Given the description of an element on the screen output the (x, y) to click on. 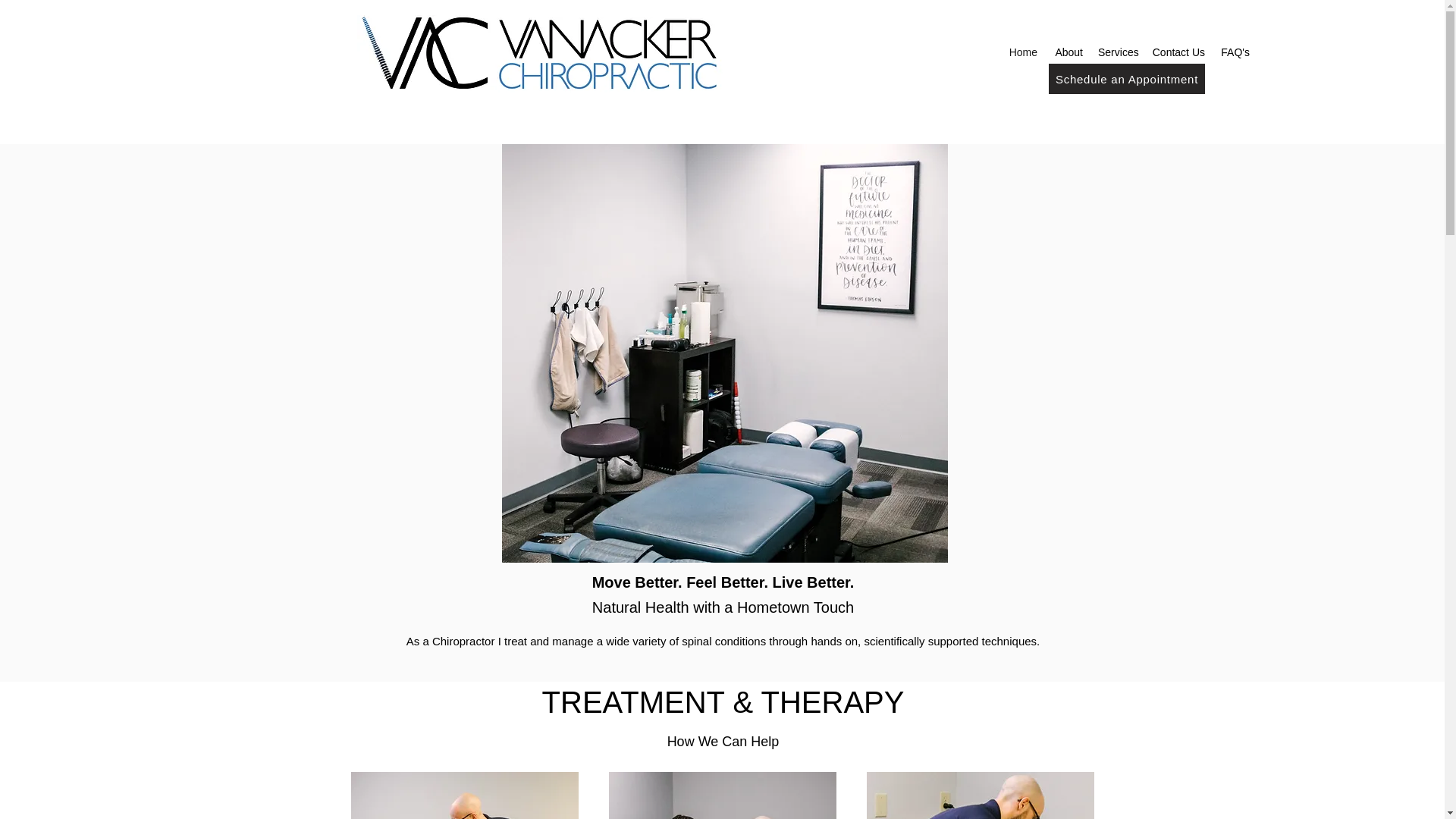
About (1067, 51)
Home (1023, 51)
FAQ's (1234, 51)
Services (1117, 51)
Schedule an Appointment (1126, 78)
Contact Us (1178, 51)
